Given the description of an element on the screen output the (x, y) to click on. 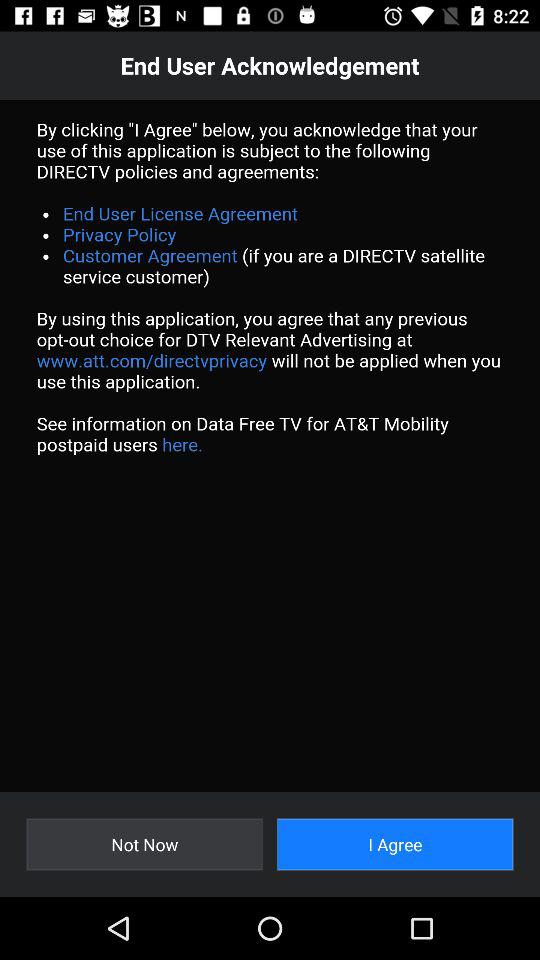
read the end user acknowledgement page (270, 445)
